Given the description of an element on the screen output the (x, y) to click on. 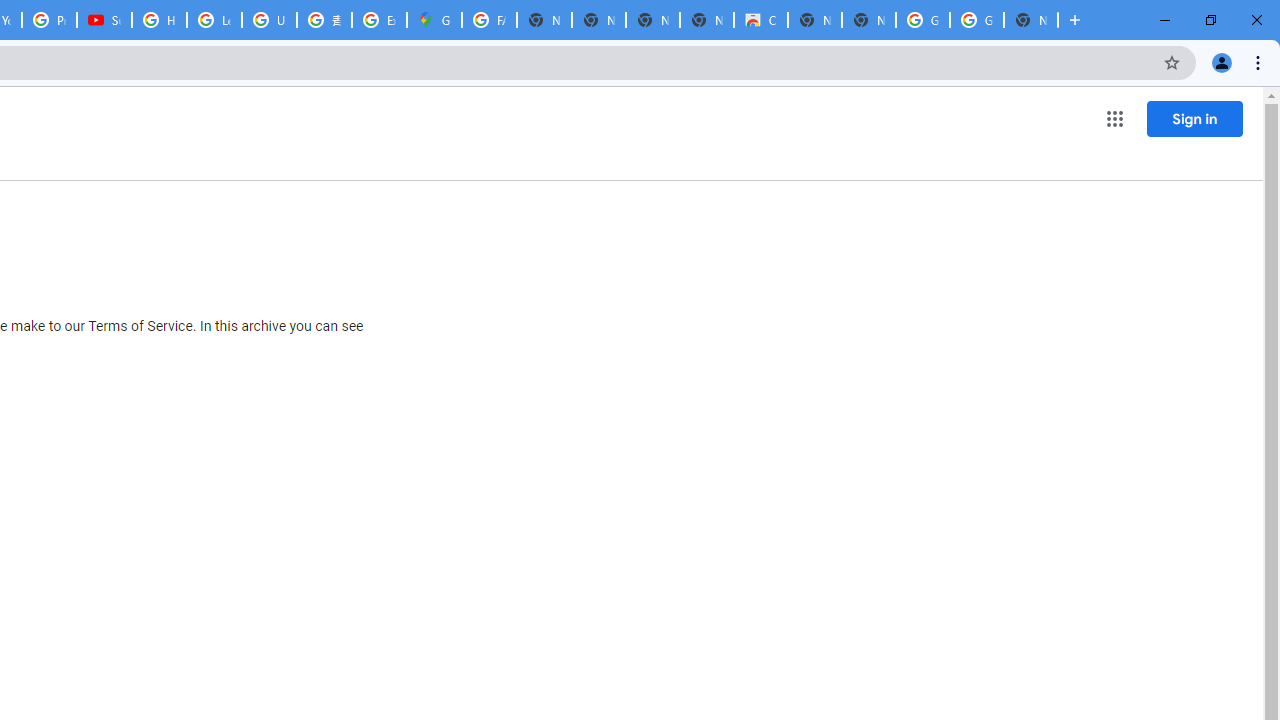
New Tab (1030, 20)
Subscriptions - YouTube (103, 20)
Chrome Web Store (760, 20)
Sign in (1194, 118)
How Chrome protects your passwords - Google Chrome Help (158, 20)
